Given the description of an element on the screen output the (x, y) to click on. 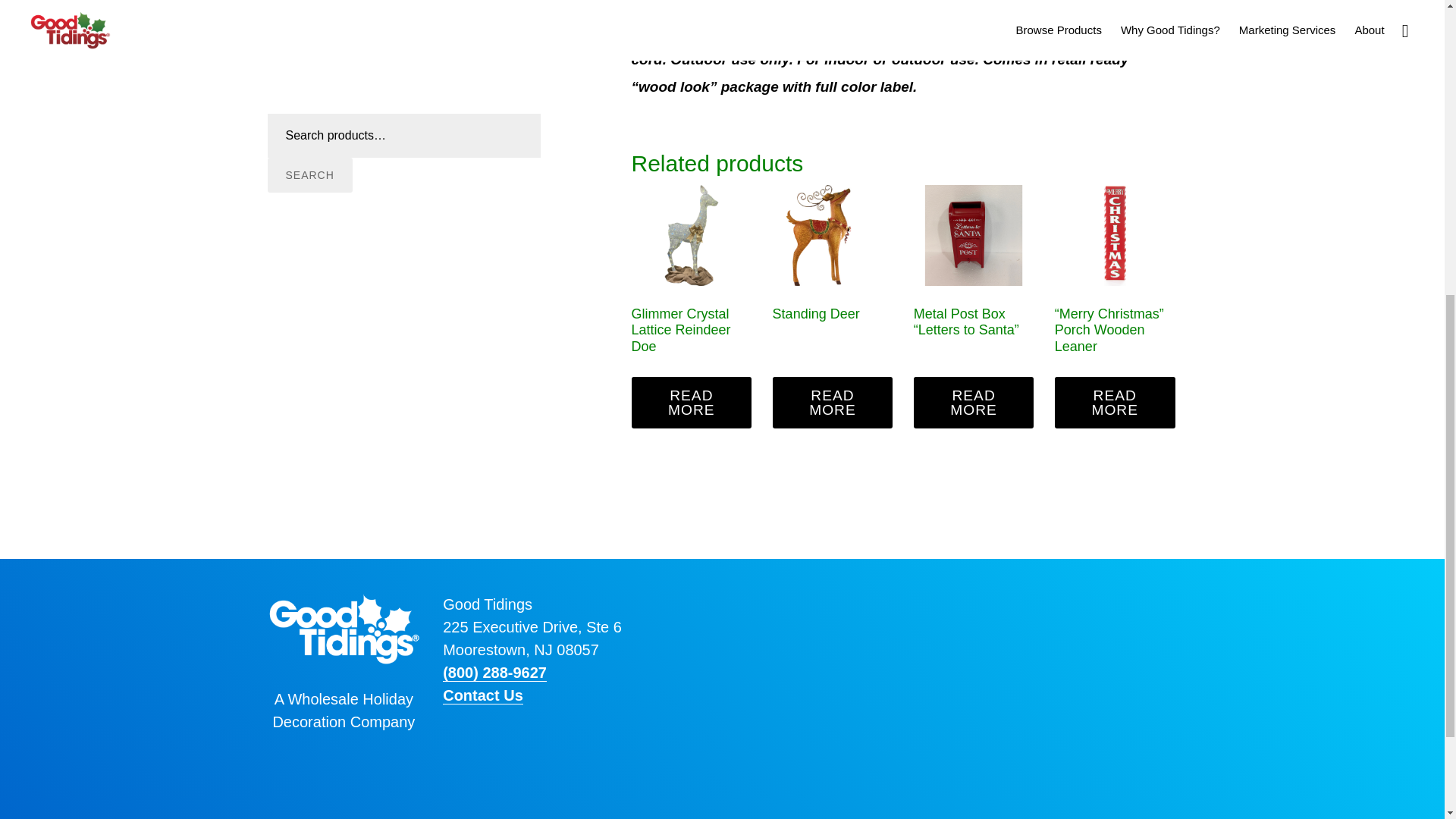
READ MORE (1114, 402)
READ MORE (833, 402)
READ MORE (690, 402)
READ MORE (973, 402)
